Given the description of an element on the screen output the (x, y) to click on. 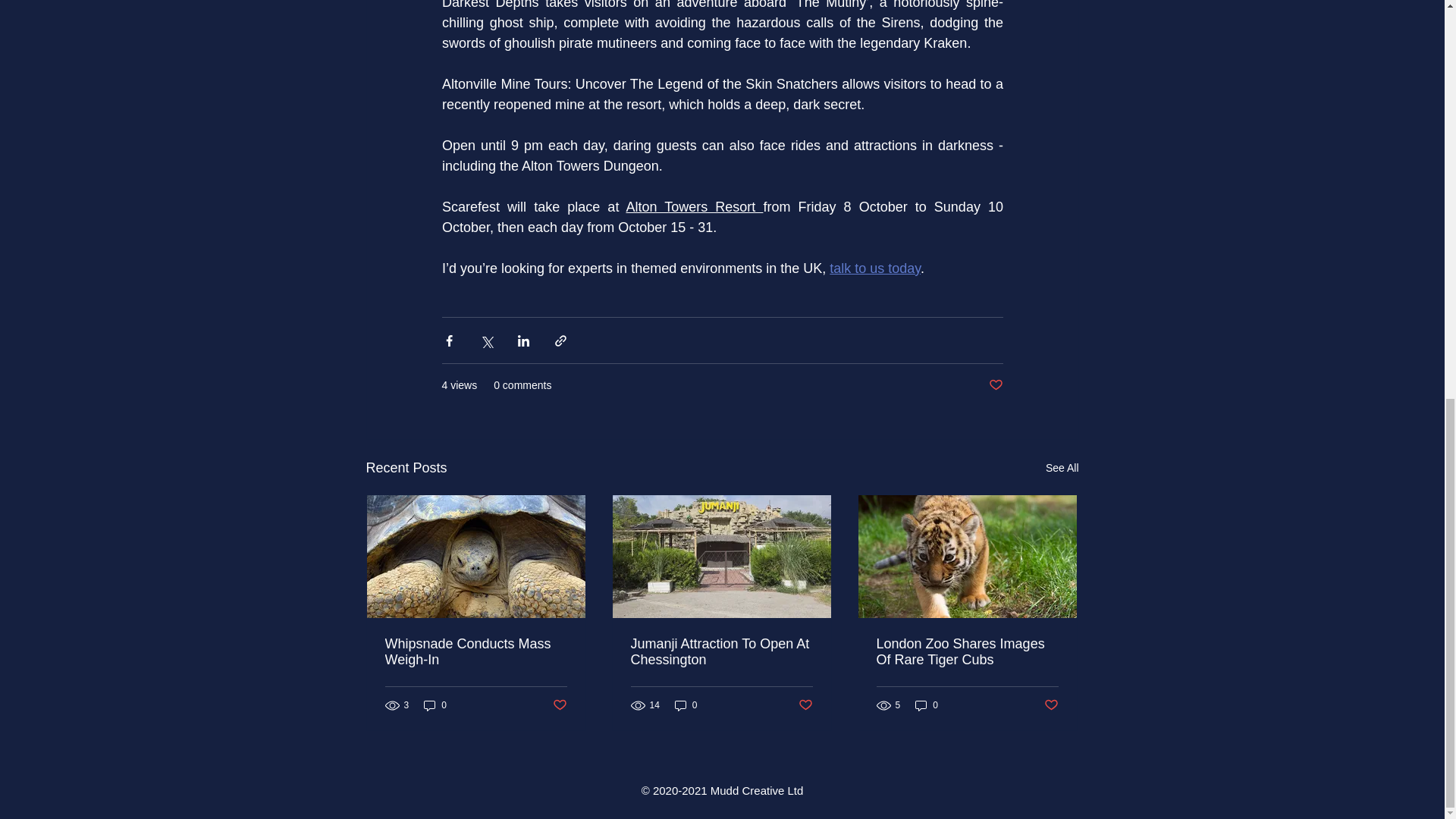
Jumanji Attraction To Open At Chessington (721, 652)
0 (685, 705)
0 (926, 705)
Post not marked as liked (995, 385)
Whipsnade Conducts Mass Weigh-In (476, 652)
Post not marked as liked (804, 705)
Post not marked as liked (558, 705)
See All (1061, 468)
0 (435, 705)
London Zoo Shares Images Of Rare Tiger Cubs (967, 652)
